Given the description of an element on the screen output the (x, y) to click on. 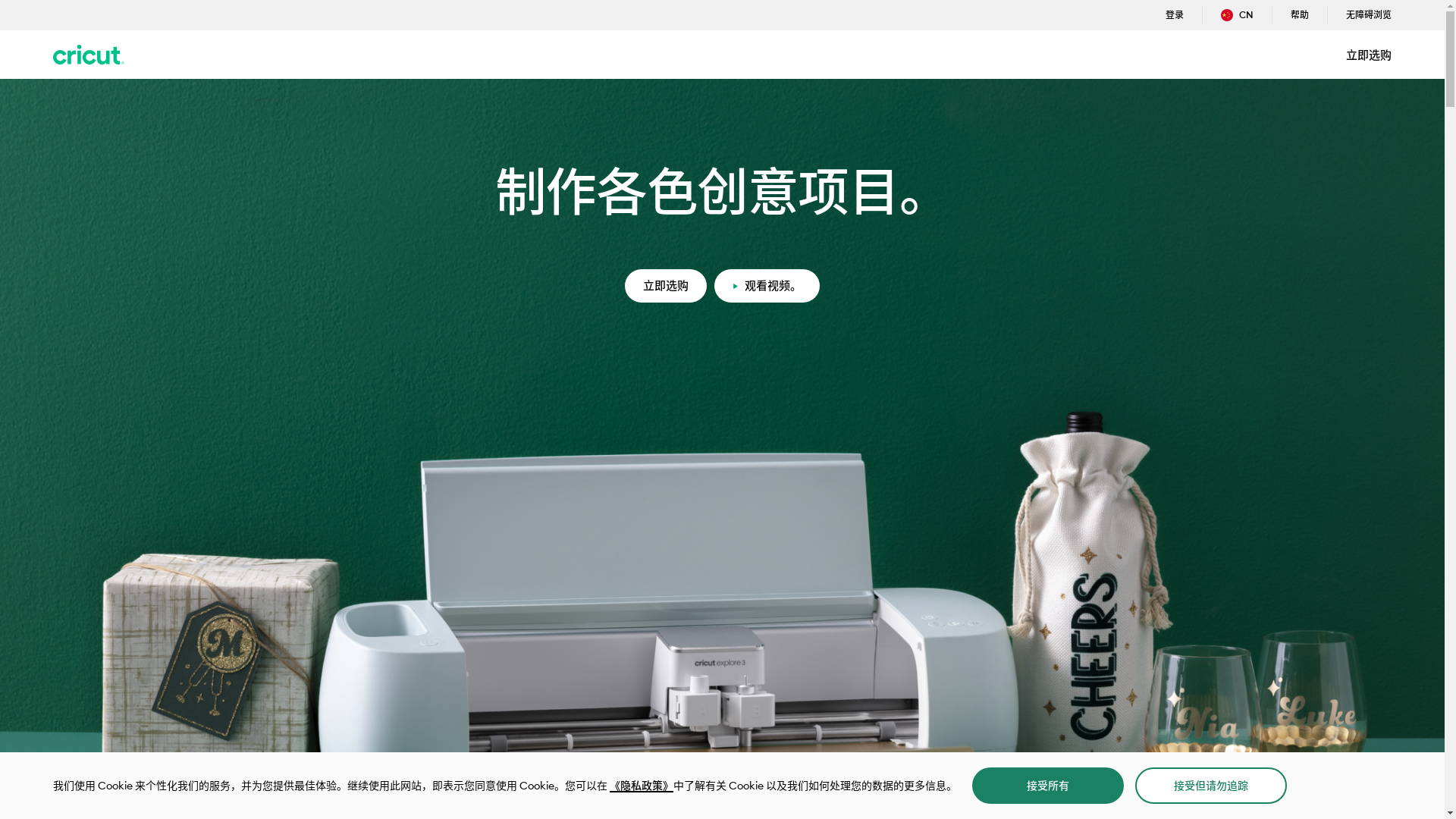
Cricut Shop Element type: hover (88, 54)
CN Element type: text (1236, 15)
